Given the description of an element on the screen output the (x, y) to click on. 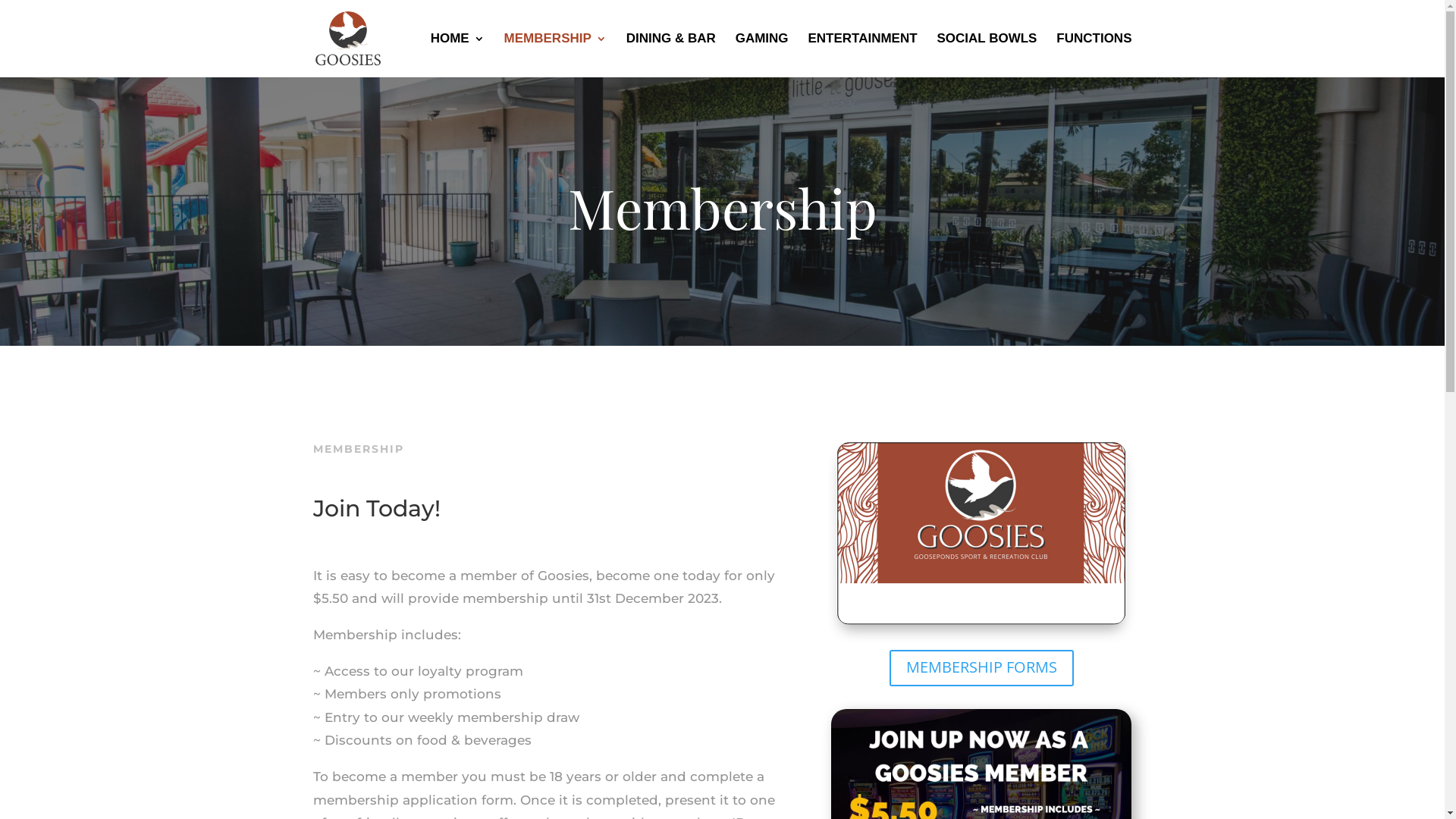
FUNCTIONS Element type: text (1093, 55)
MEMBERSHIP Element type: text (555, 55)
HOME Element type: text (457, 55)
GAMING Element type: text (761, 55)
SOCIAL BOWLS Element type: text (987, 55)
DINING & BAR Element type: text (670, 55)
ENTERTAINMENT Element type: text (861, 55)
MEMBERSHIP FORMS Element type: text (981, 667)
